Given the description of an element on the screen output the (x, y) to click on. 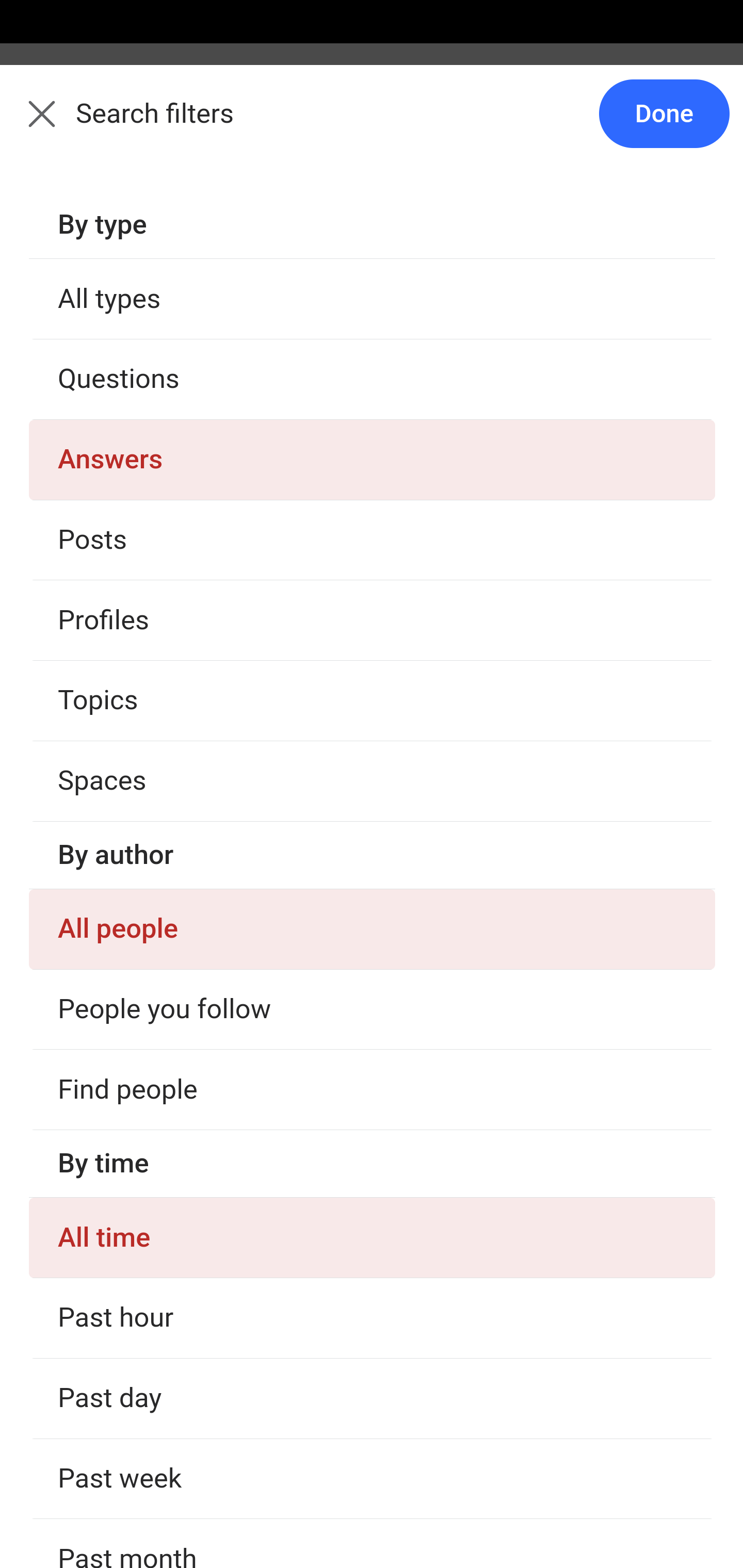
Back Search (371, 125)
Answer (125, 387)
Answer (125, 768)
What are the best sites for learning Data Science? (372, 1097)
Answer (125, 1402)
